Given the description of an element on the screen output the (x, y) to click on. 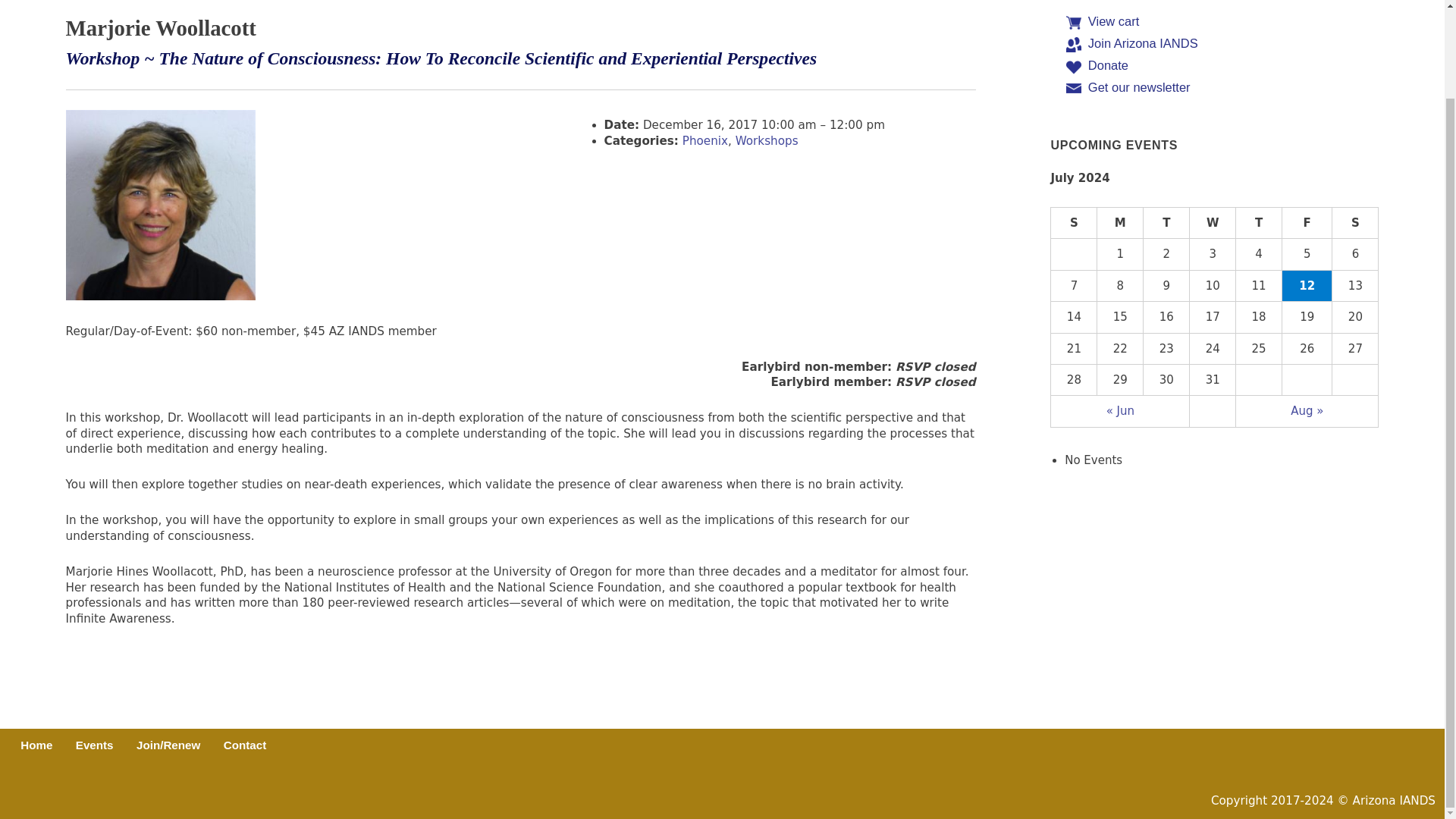
Get our newsletter (1139, 87)
Thursday (1259, 223)
12 (1307, 286)
Monday (1119, 223)
Join Arizona IANDS (1142, 42)
Friday (1307, 223)
AZ IANDS July Meeting (1307, 286)
Events (94, 744)
Workshops (766, 141)
Saturday (1355, 223)
Donate (1107, 65)
Phoenix (705, 141)
Previous month (1120, 410)
Sunday (1074, 223)
Home (36, 744)
